Given the description of an element on the screen output the (x, y) to click on. 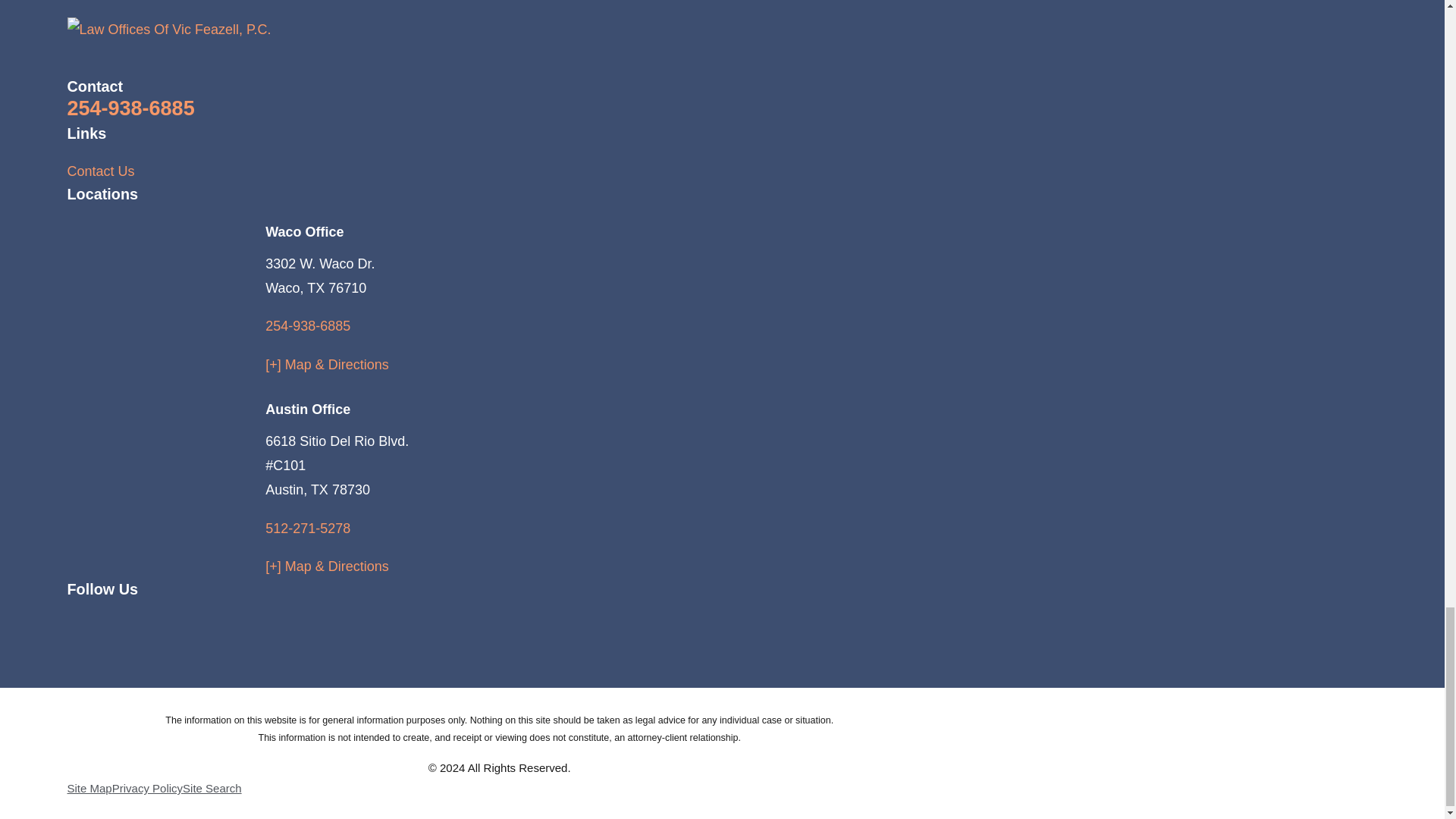
Home (289, 29)
LinkedIn (115, 624)
Facebook (75, 624)
